Given the description of an element on the screen output the (x, y) to click on. 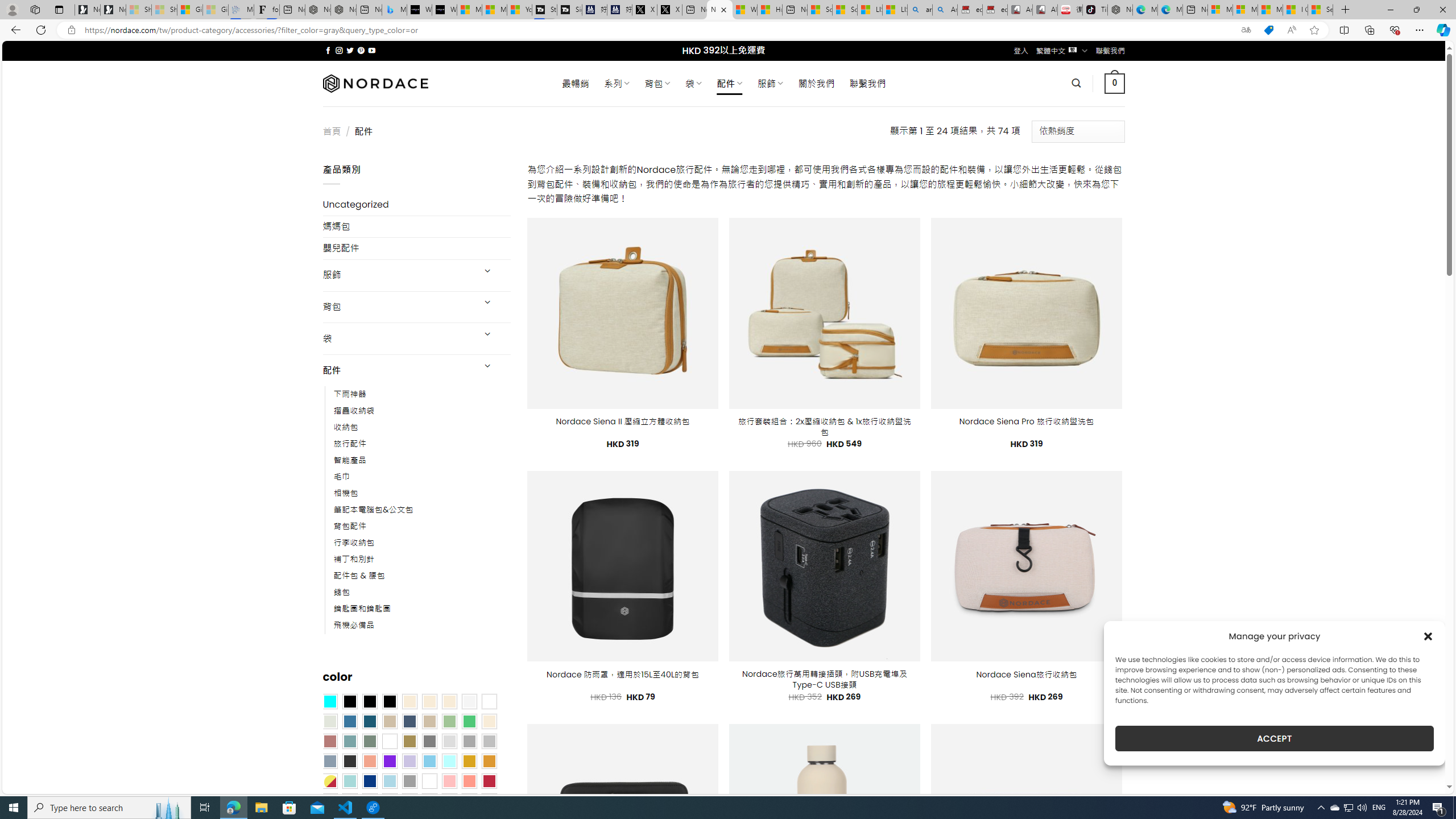
Microsoft Bing Travel - Shangri-La Hotel Bangkok (394, 9)
